Given the description of an element on the screen output the (x, y) to click on. 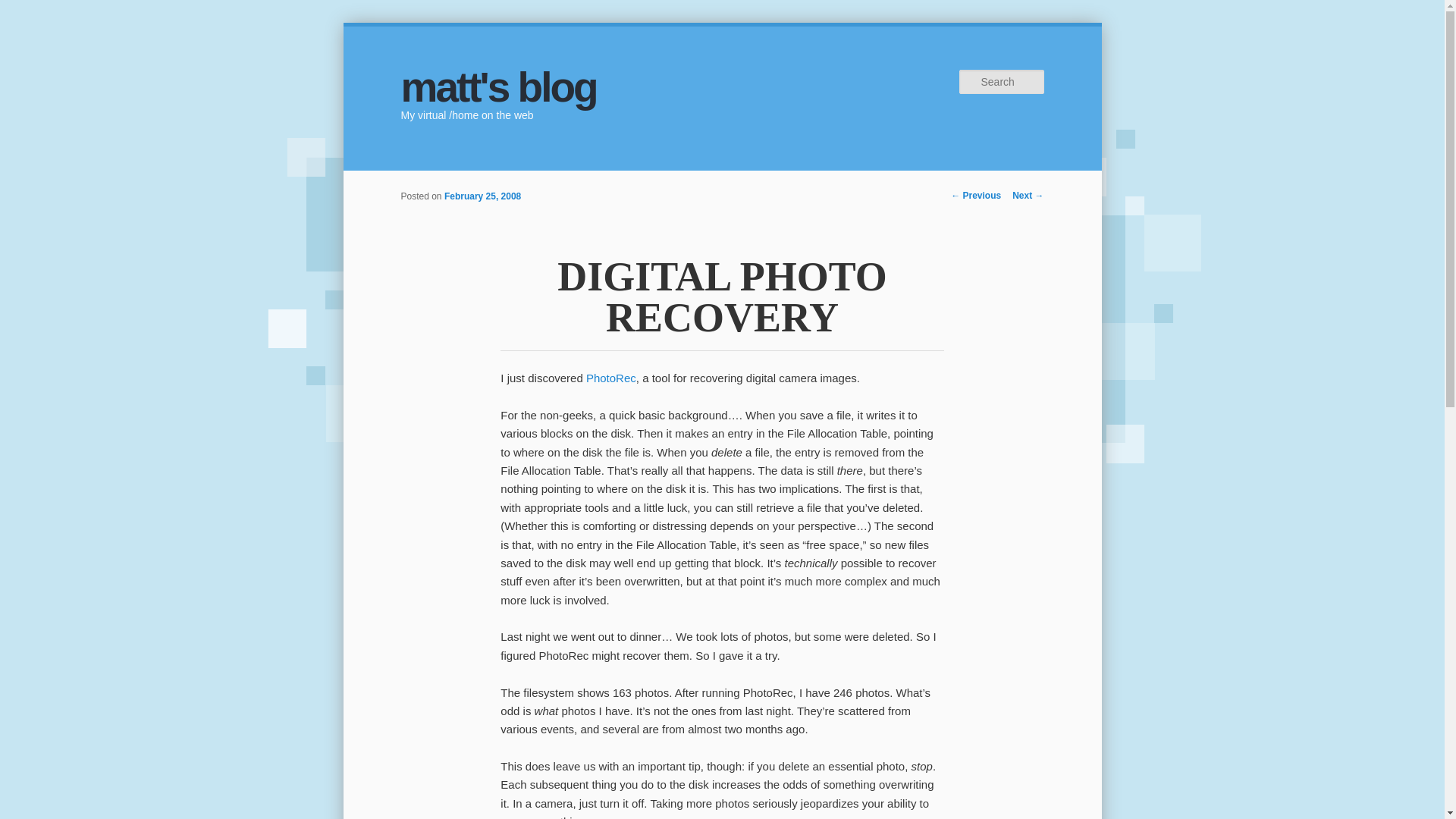
Skip to primary content (472, 181)
Skip to secondary content (479, 181)
February 25, 2008 (482, 195)
12:21 am (482, 195)
PhotoRec (611, 377)
Search (24, 11)
Skip to secondary content (479, 181)
Matt's Blog (497, 86)
Skip to primary content (472, 181)
matt's blog (497, 86)
